Given the description of an element on the screen output the (x, y) to click on. 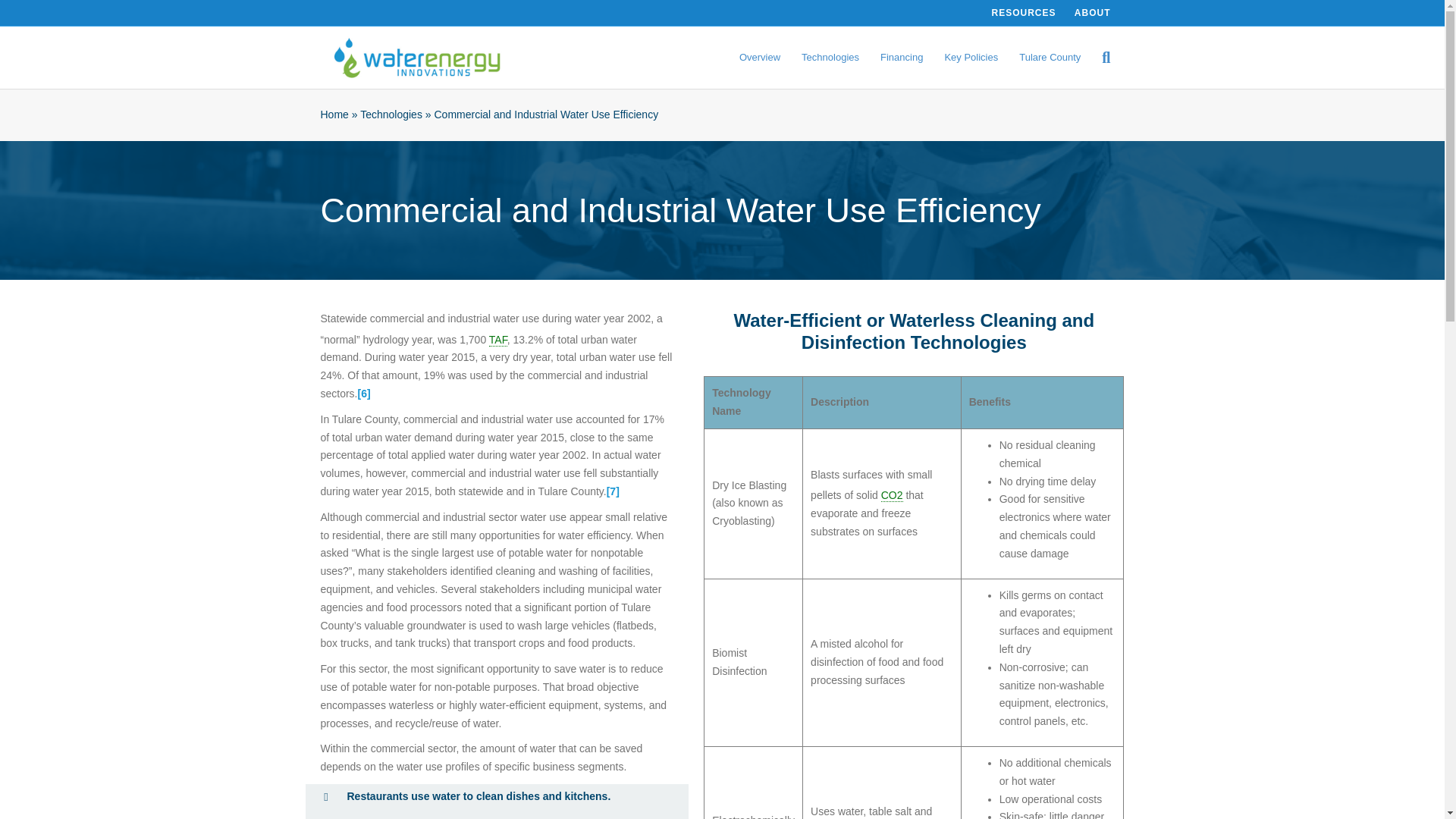
RESOURCES (1023, 13)
ABOUT (1092, 13)
Go to Drought Resilience. (333, 114)
Go to Technologies. (390, 114)
Overview (759, 57)
